Given the description of an element on the screen output the (x, y) to click on. 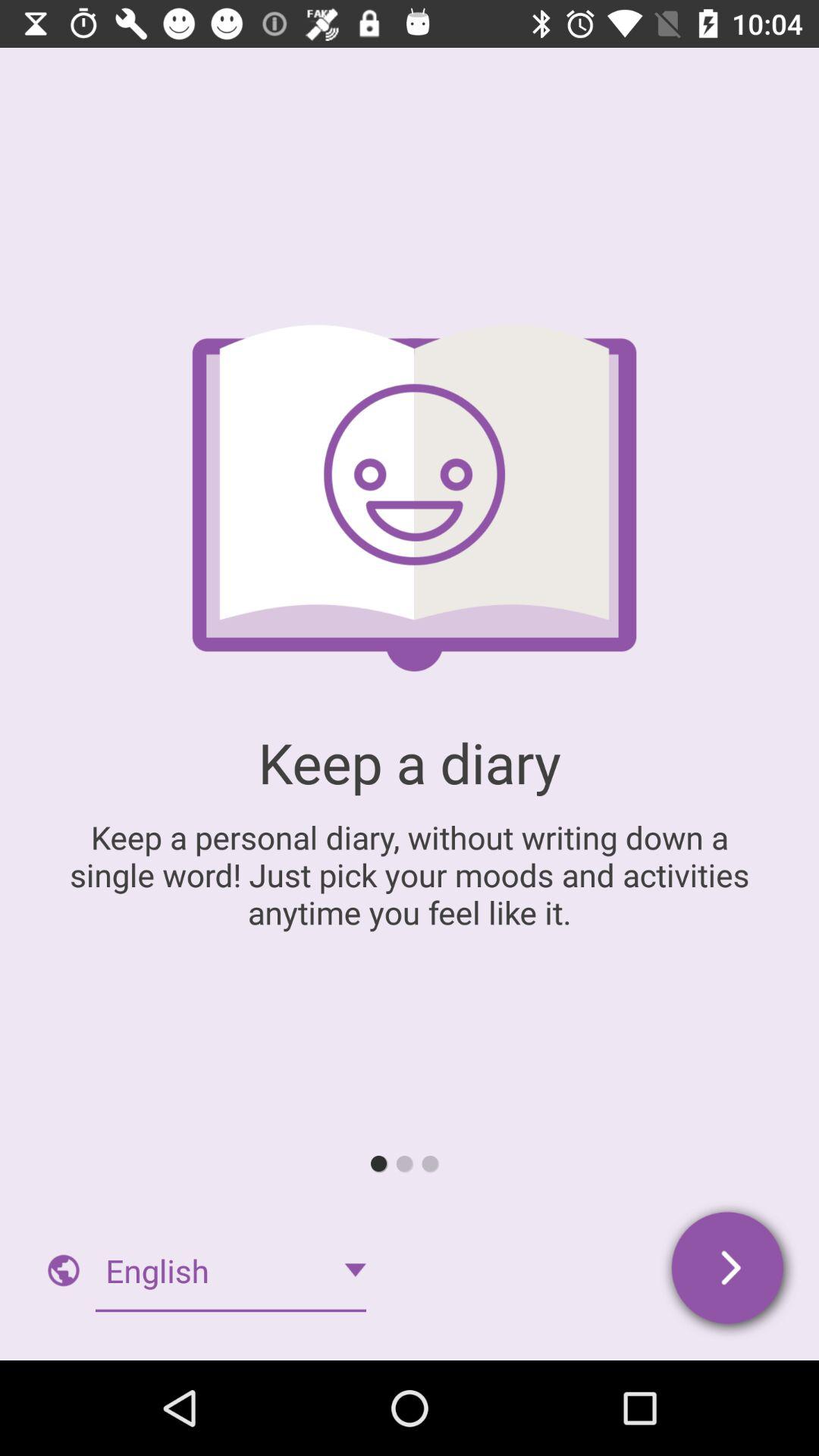
go to internet option (63, 1270)
